Given the description of an element on the screen output the (x, y) to click on. 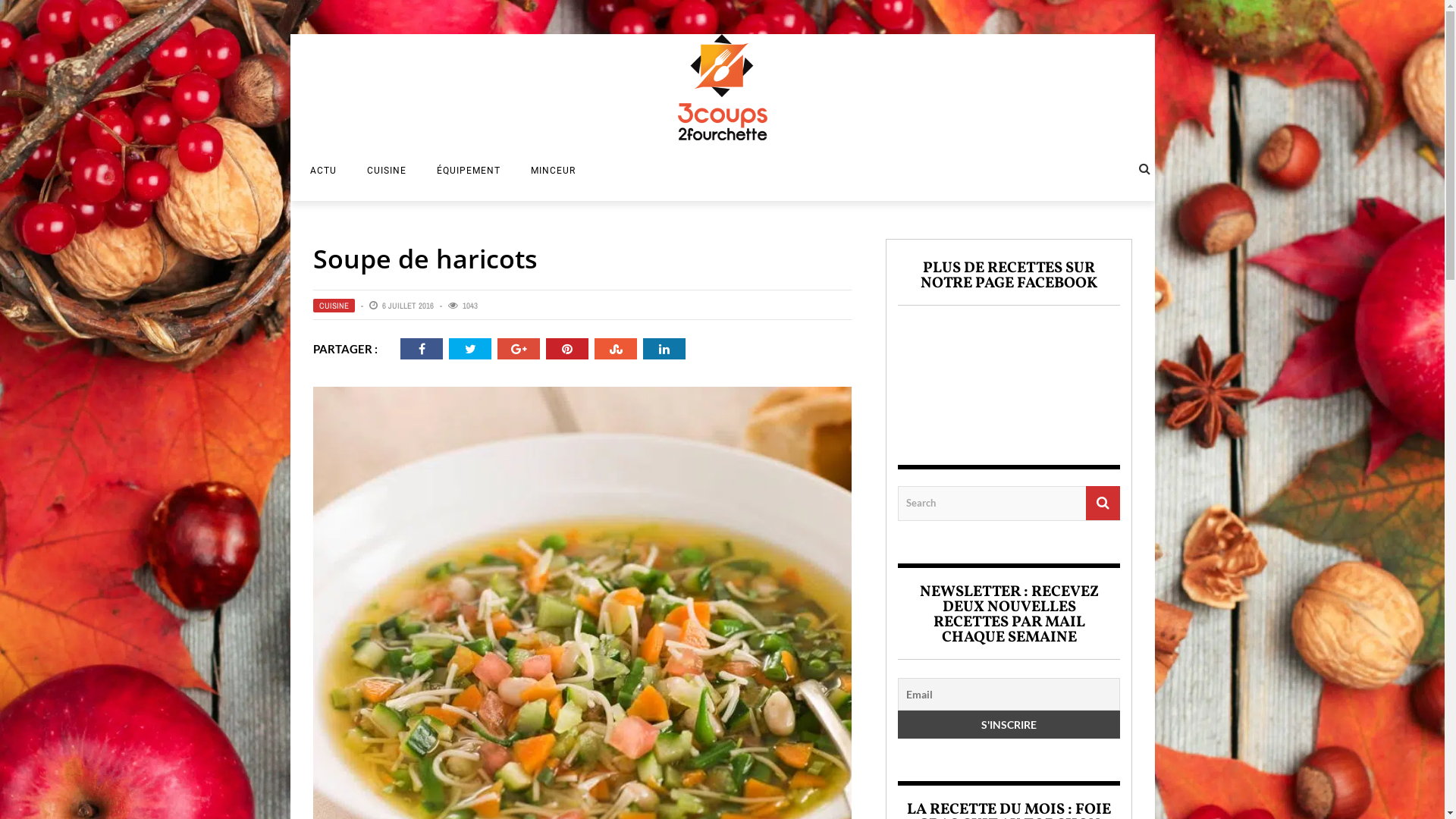
Twitter Element type: hover (469, 348)
Pinterest Element type: hover (566, 348)
Stumbleupon Element type: hover (614, 348)
ACTU Element type: text (322, 170)
Google Plus Element type: hover (518, 348)
CUISINE Element type: text (386, 170)
Page Facebook Element type: hover (1008, 372)
Facebook Element type: hover (420, 348)
Linkedin Element type: hover (663, 348)
S'inscrire Element type: text (1008, 723)
MINCEUR Element type: text (552, 170)
CUISINE Element type: text (333, 305)
